Given the description of an element on the screen output the (x, y) to click on. 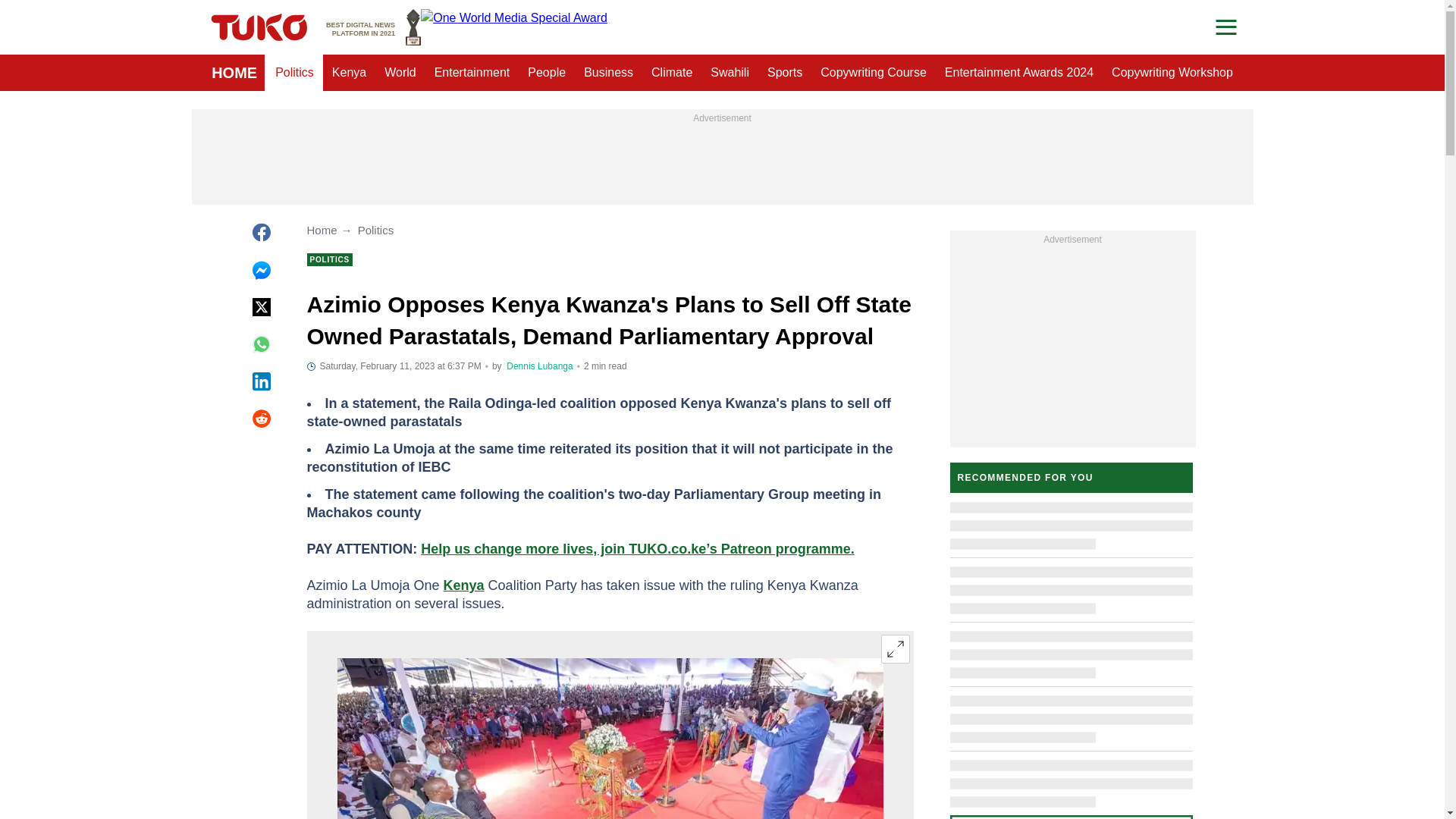
Sports (784, 72)
Copywriting Workshop (1171, 72)
Entertainment Awards 2024 (1019, 72)
People (546, 72)
Author page (539, 366)
HOME (234, 72)
Entertainment (472, 72)
World (400, 72)
Business (373, 27)
